Given the description of an element on the screen output the (x, y) to click on. 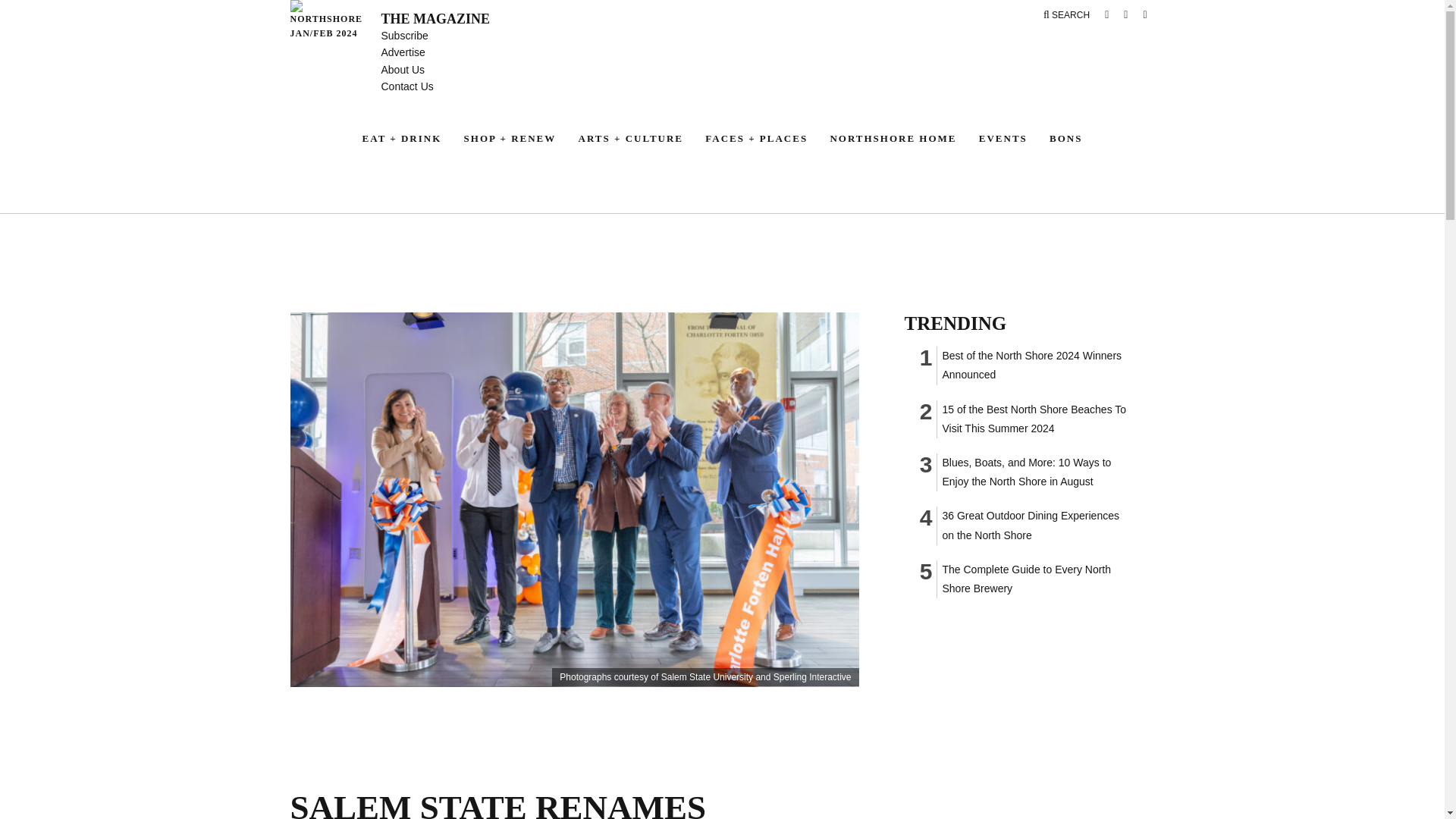
SEARCH (1066, 15)
Search (1066, 15)
Contact Us (406, 86)
NORTHSHORE HOME (893, 138)
Subscribe (404, 35)
About Us (402, 69)
EVENTS (1002, 138)
Advertise (402, 51)
BONS (1065, 138)
